Given the description of an element on the screen output the (x, y) to click on. 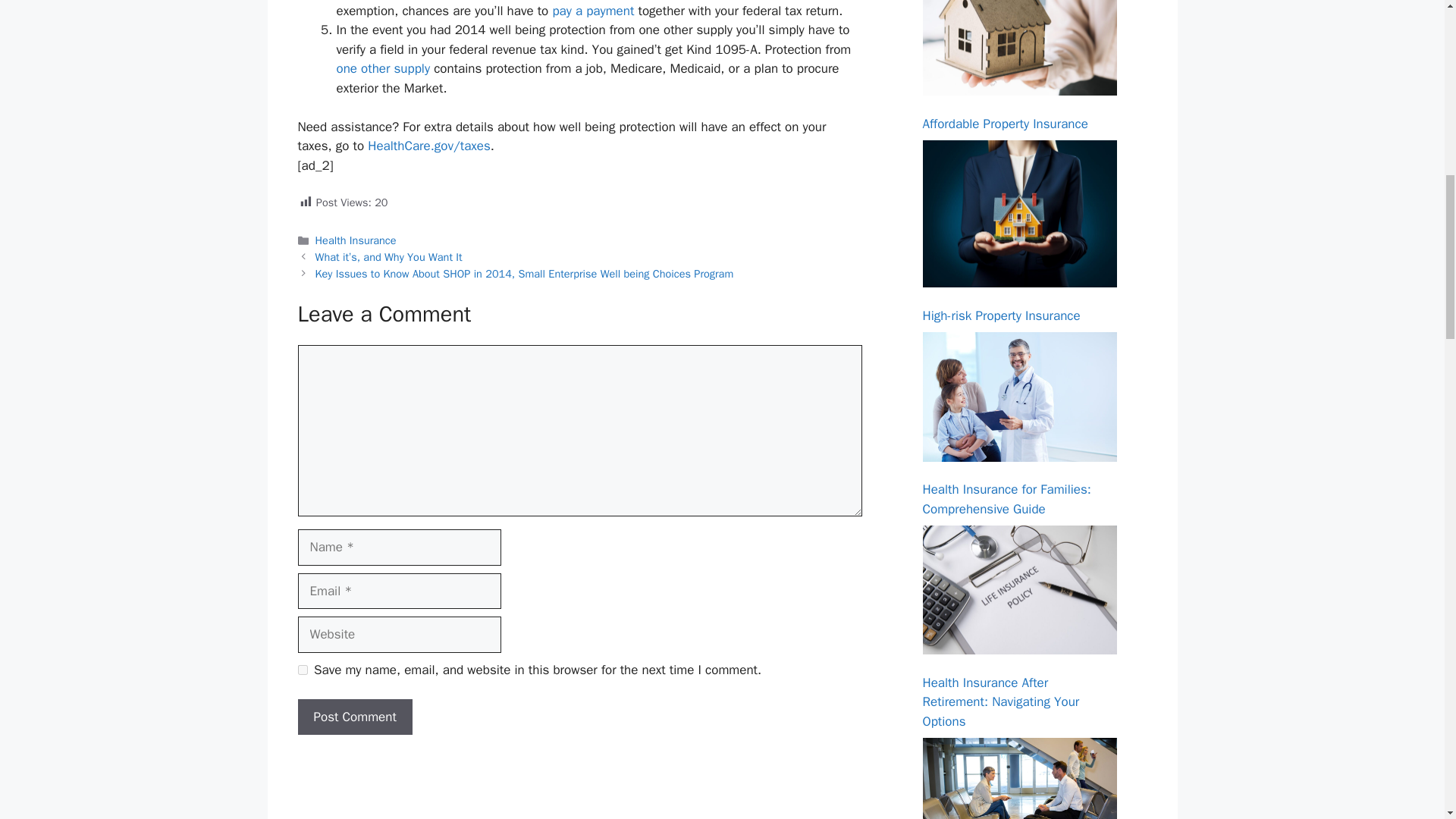
Health Insurance (355, 240)
yes (302, 669)
one other supply (383, 68)
Post Comment (354, 717)
Health Insurance for Families: Comprehensive Guide (1018, 396)
pay a payment (592, 10)
High-risk Property Insurance (1000, 315)
Health Insurance for Families: Comprehensive Guide (1005, 498)
Post Comment (354, 717)
Affordable Property Insurance (1018, 48)
Health Insurance After Retirement: Navigating Your Options (1018, 589)
Affordable Property Insurance (1004, 123)
The Ultimate Guide to Travel Health Insurance (1018, 778)
Health Insurance After Retirement: Navigating Your Options (999, 701)
